Given the description of an element on the screen output the (x, y) to click on. 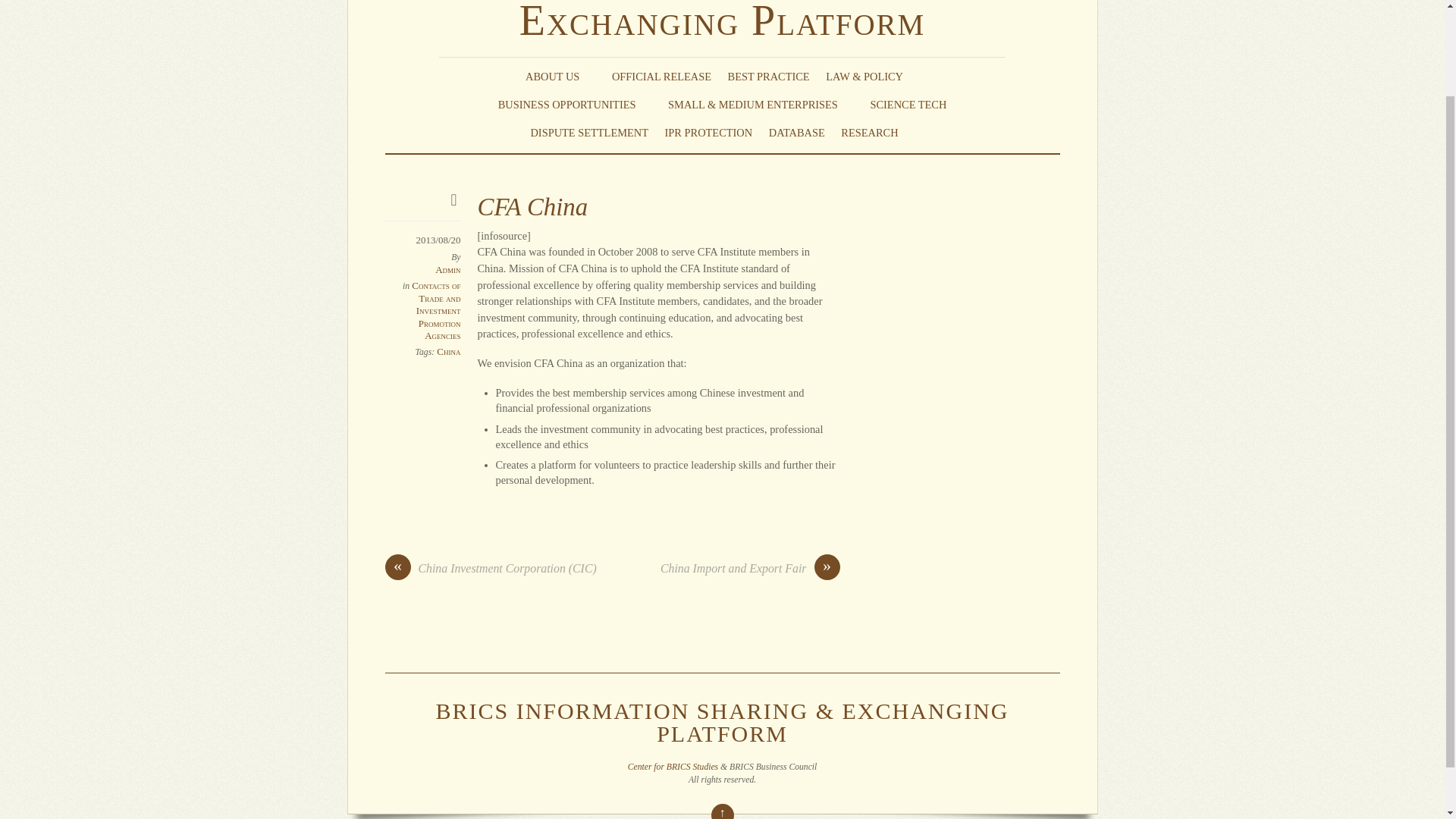
IPR PROTECTION (709, 132)
RESEARCH (877, 132)
SCIENCE TECH (908, 104)
China (448, 351)
BEST PRACTICE (768, 76)
DISPUTE SETTLEMENT (588, 132)
BUSINESS OPPORTUNITIES (575, 104)
DATABASE (796, 132)
OFFICIAL RELEASE (661, 76)
Contacts of Trade and Investment Promotion Agencies (436, 310)
CFA China (532, 206)
ABOUT US (559, 76)
Admin (447, 269)
Center for BRICS Studies (672, 767)
